Given the description of an element on the screen output the (x, y) to click on. 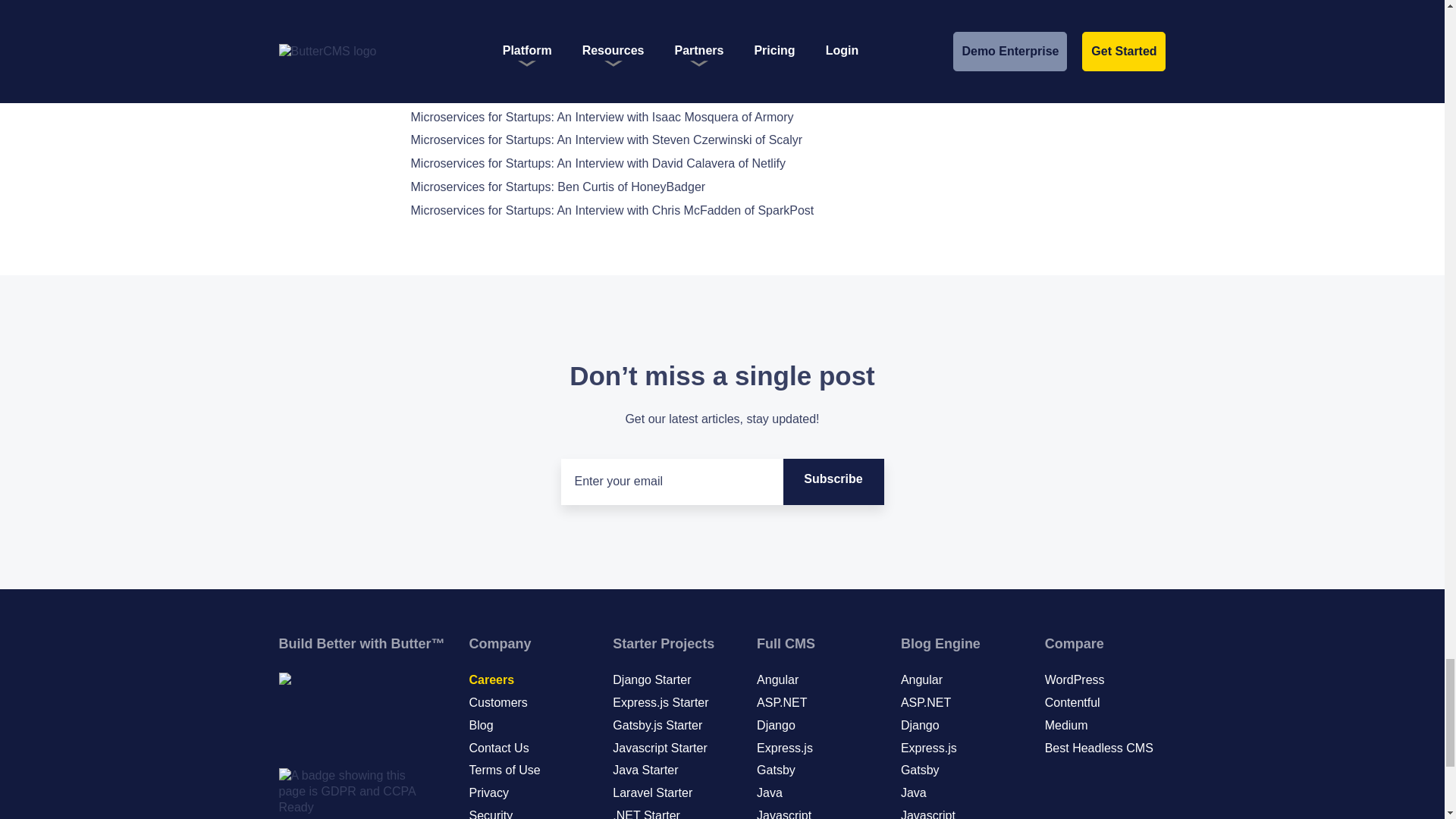
Java Starter Project Starter Project (645, 769)
Express.js CMS (784, 748)
Express.js Starter Project Starter Project (659, 702)
.NET Starter Project Starter Project (645, 814)
Django Starter Project Starter Project (651, 679)
Javascript Starter Project Starter Project (659, 748)
ASP.NET CMS (781, 702)
Django CMS (775, 725)
Subscribe (833, 481)
Gatsby.js Starter Project Starter Project (656, 725)
Laravel Starter Project Starter Project (652, 792)
Angular CMS (777, 679)
